Given the description of an element on the screen output the (x, y) to click on. 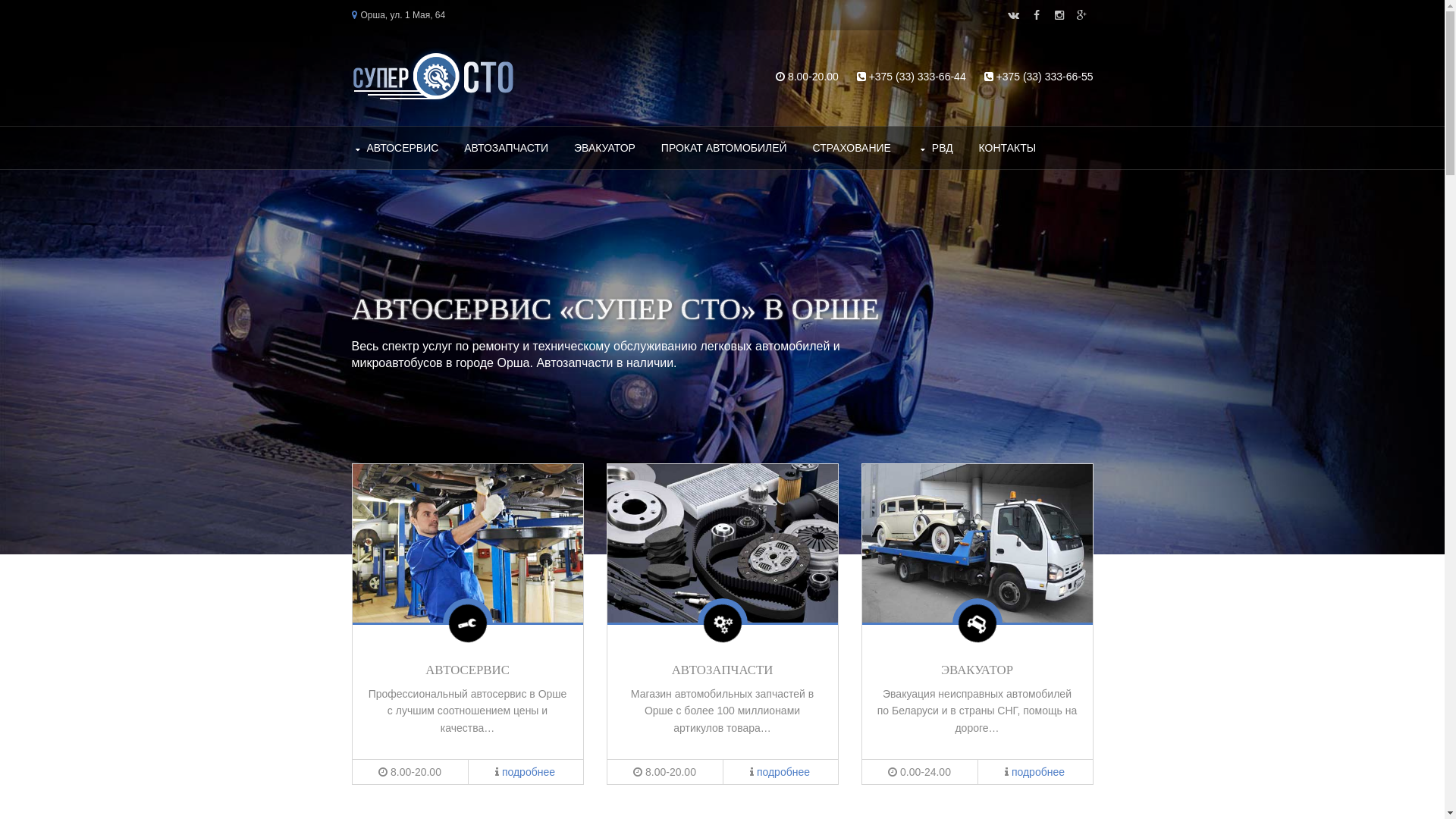
+375 (33) 333-66-44 Element type: text (917, 76)
+375 (33) 333-66-55 Element type: text (1043, 76)
